Given the description of an element on the screen output the (x, y) to click on. 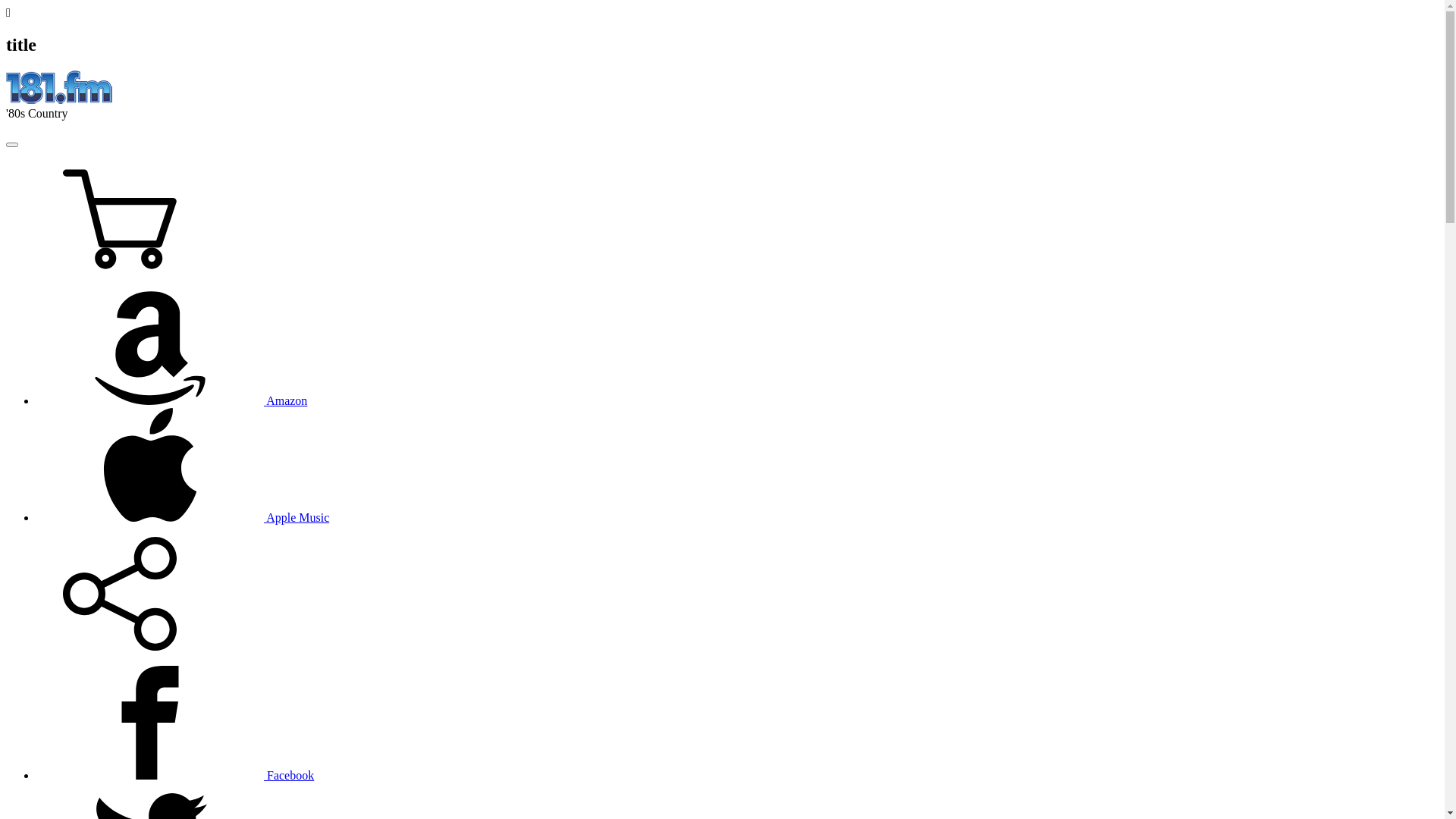
Facebook Element type: text (174, 774)
Buy Element type: hover (119, 271)
Open Website Element type: hover (59, 99)
Play/Stop Element type: hover (12, 144)
Share Element type: hover (119, 646)
Apple Music Element type: text (182, 517)
Amazon Element type: text (171, 400)
